Given the description of an element on the screen output the (x, y) to click on. 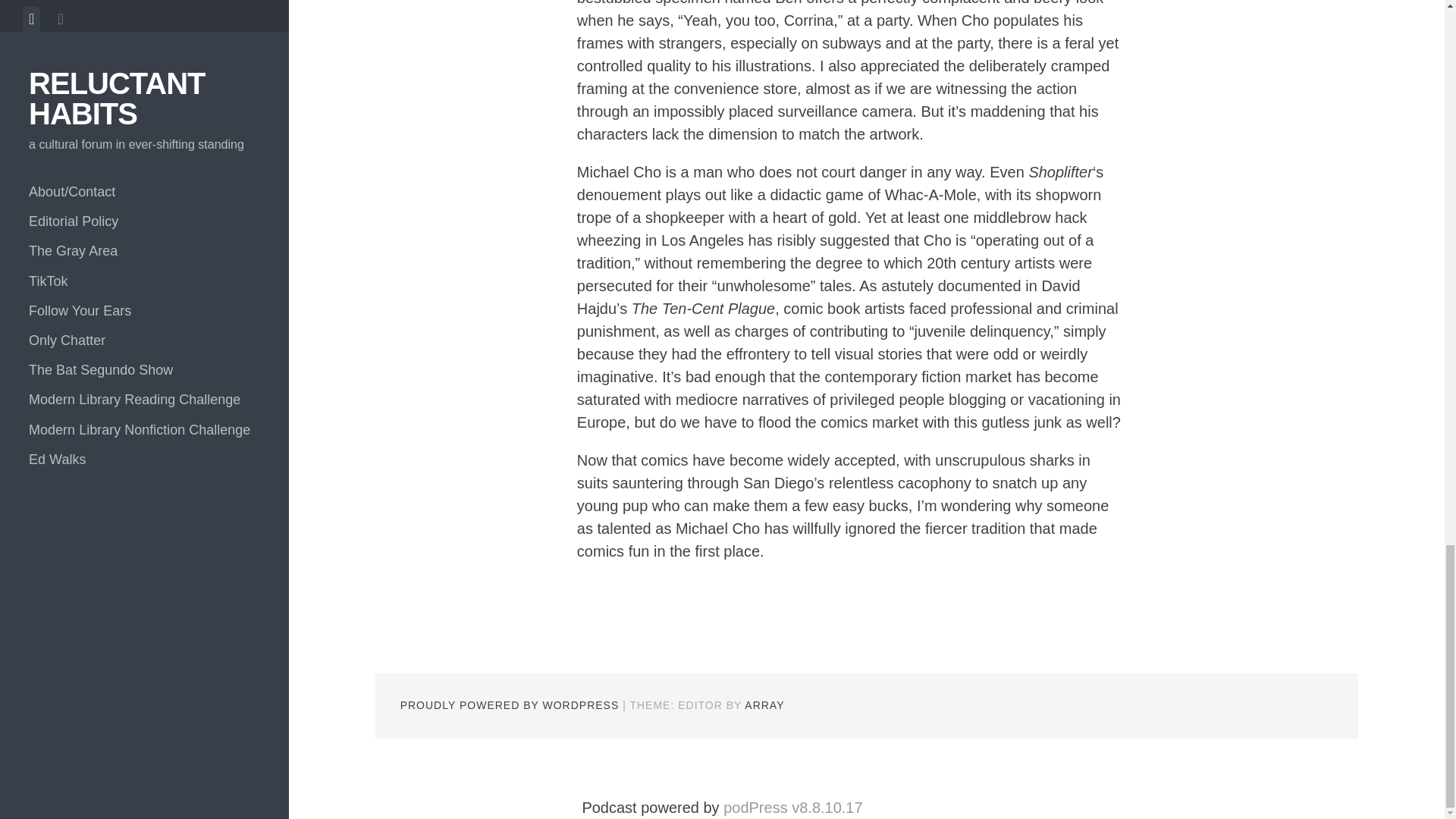
podPress, a plugin for podcasting with WordPress (792, 807)
